Given the description of an element on the screen output the (x, y) to click on. 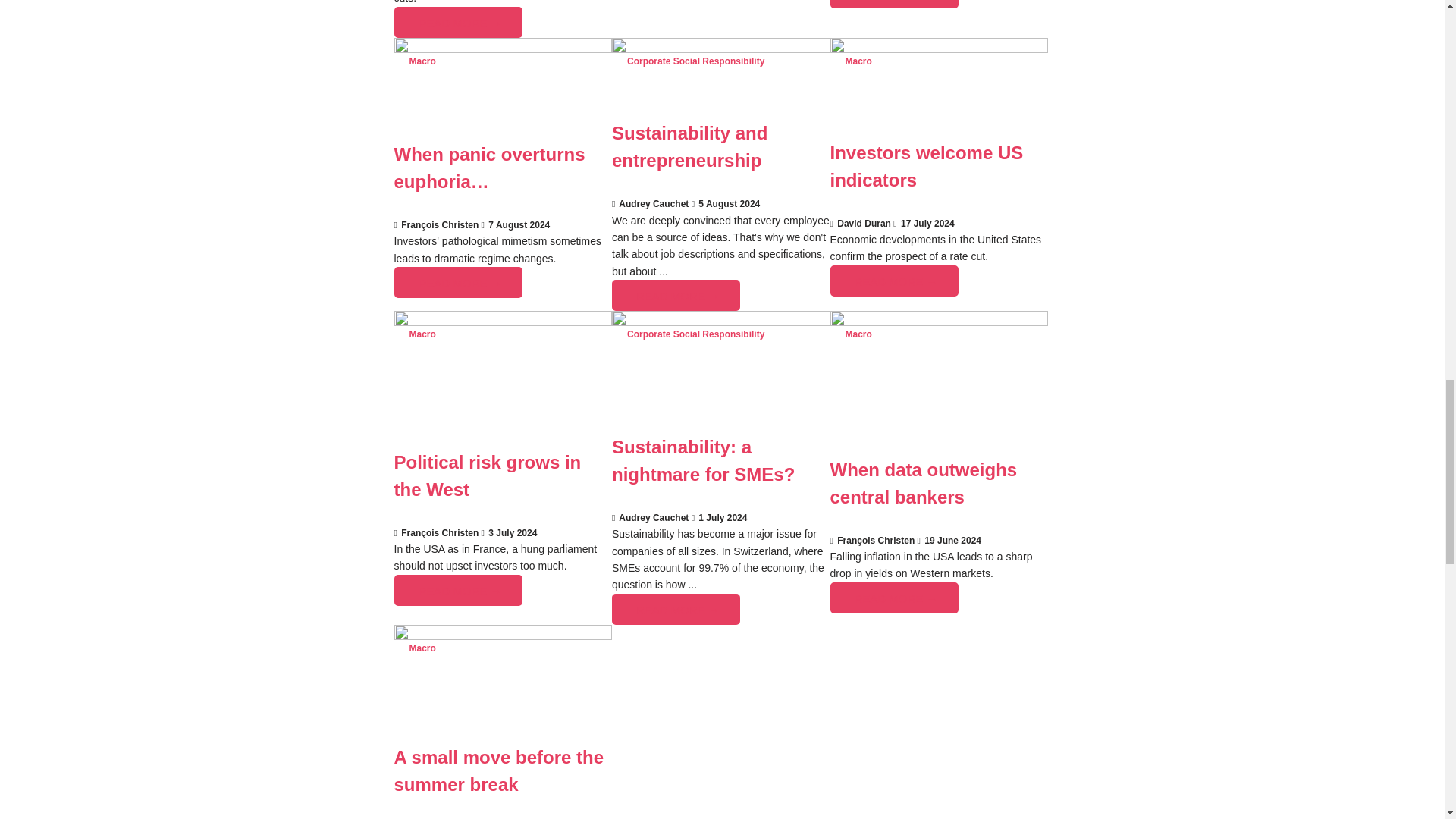
Investors welcome US indicators (938, 49)
Political risk grows in the West (503, 322)
Sustainability and entrepreneurship (720, 49)
